Given the description of an element on the screen output the (x, y) to click on. 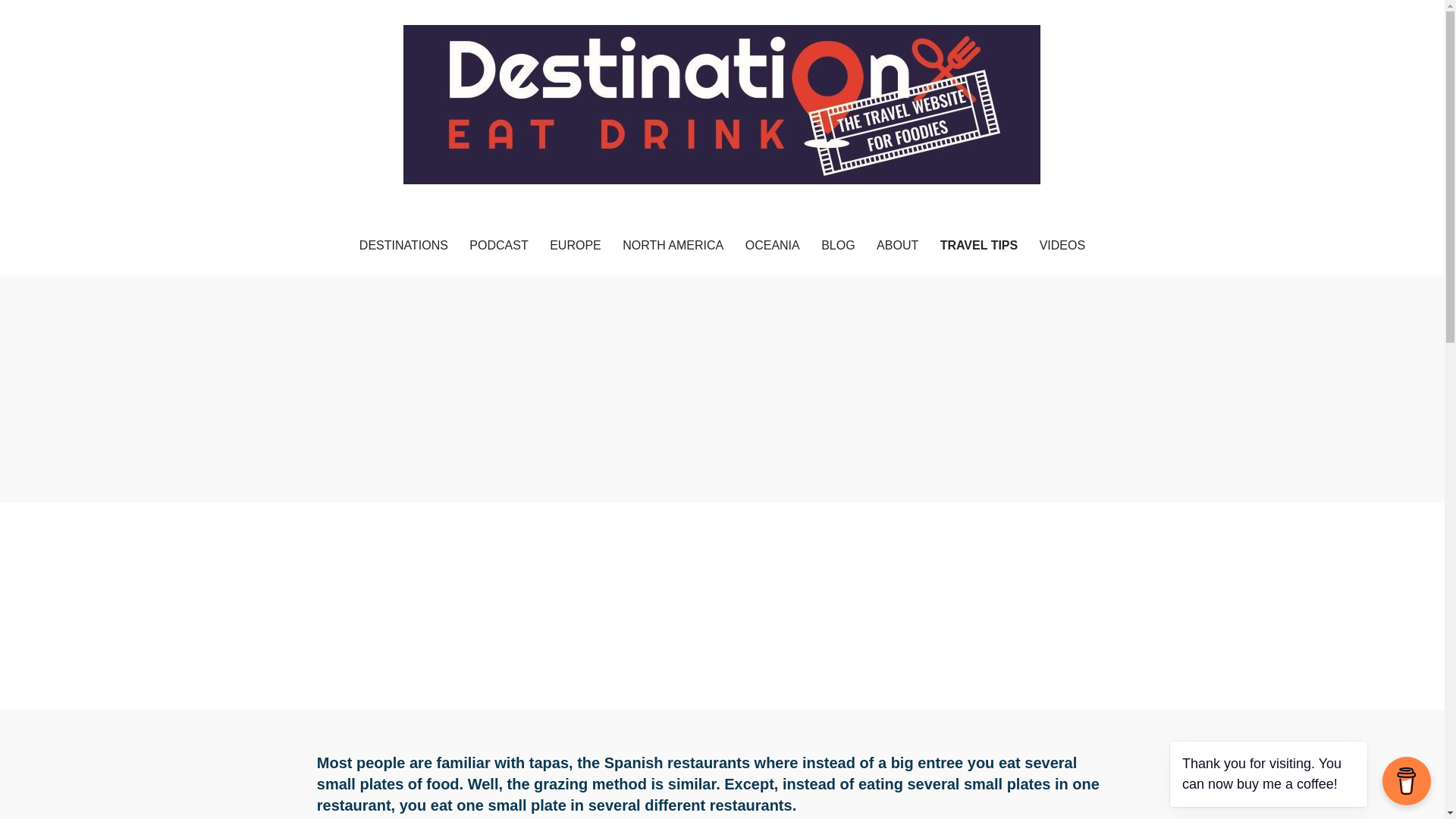
PODCAST (498, 246)
EUROPE (575, 246)
OCEANIA (772, 246)
DESTINATIONS (403, 246)
VIDEOS (1062, 246)
TRAVEL TIPS (979, 246)
NORTH AMERICA (672, 246)
ABOUT (897, 246)
Destination Eat Drink - The Travel Site for Foodies (599, 212)
